Given the description of an element on the screen output the (x, y) to click on. 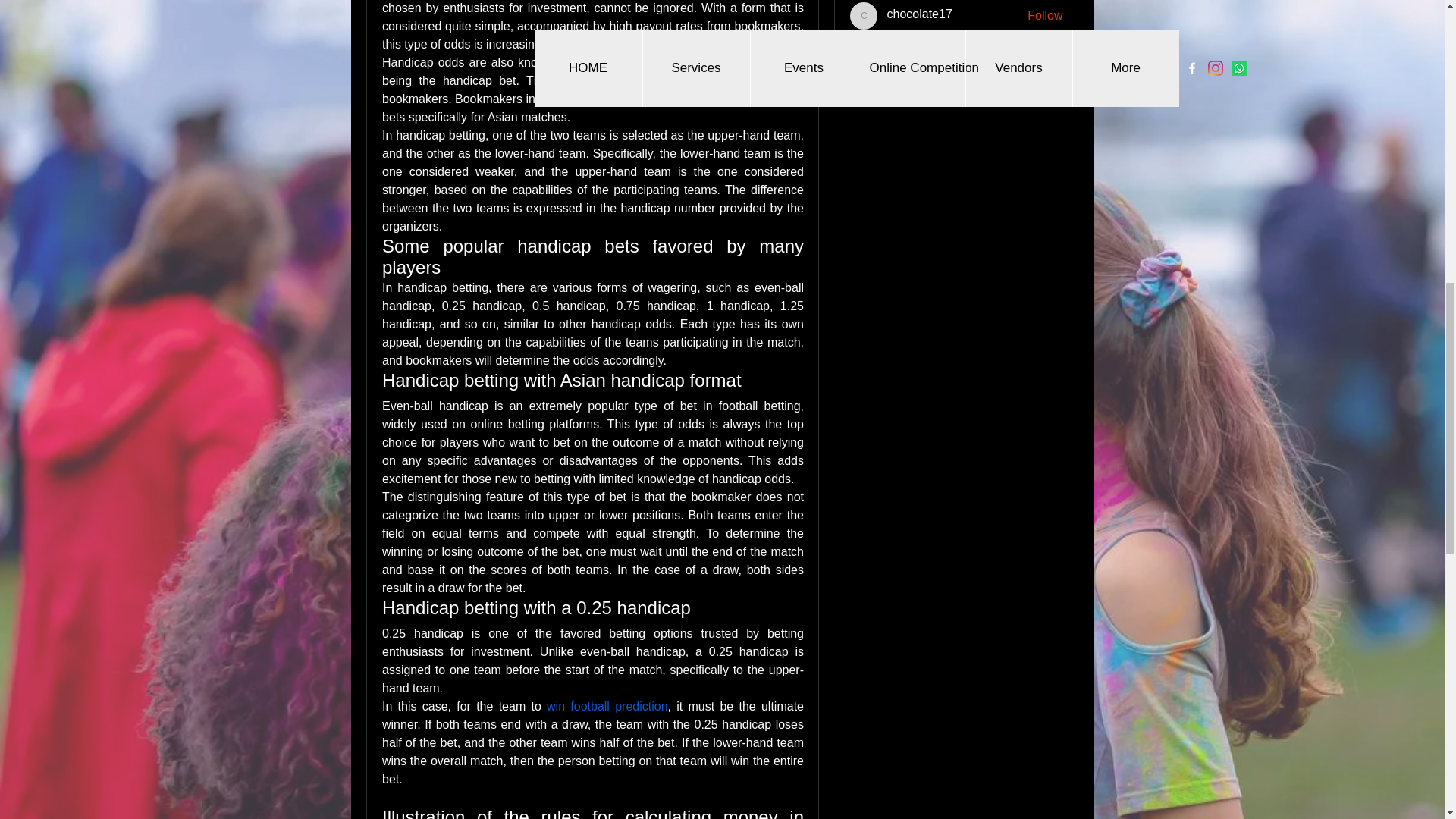
win football prediction (606, 707)
chocolate17 (863, 15)
